Given the description of an element on the screen output the (x, y) to click on. 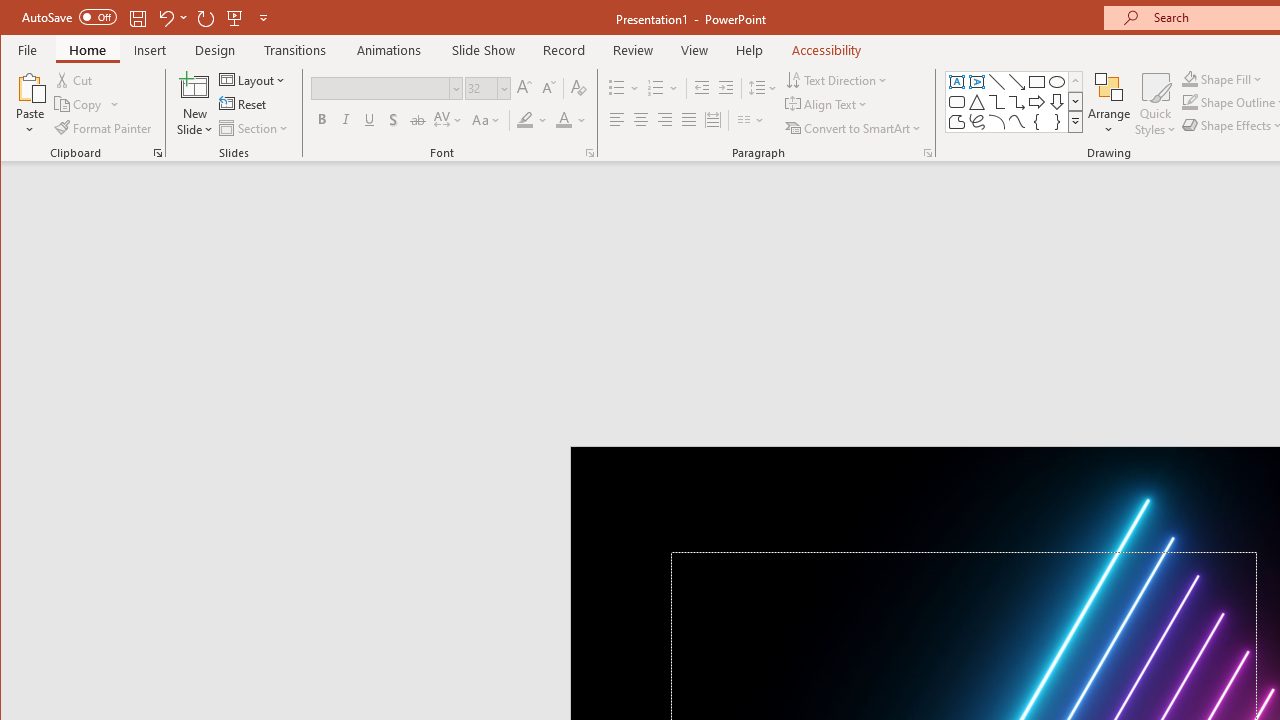
Text Direction (837, 80)
Connector: Elbow Arrow (1016, 102)
Right Brace (1057, 121)
Align Left (616, 119)
Character Spacing (449, 119)
Arrow: Down (1057, 102)
Align Right (664, 119)
Columns (751, 119)
